Given the description of an element on the screen output the (x, y) to click on. 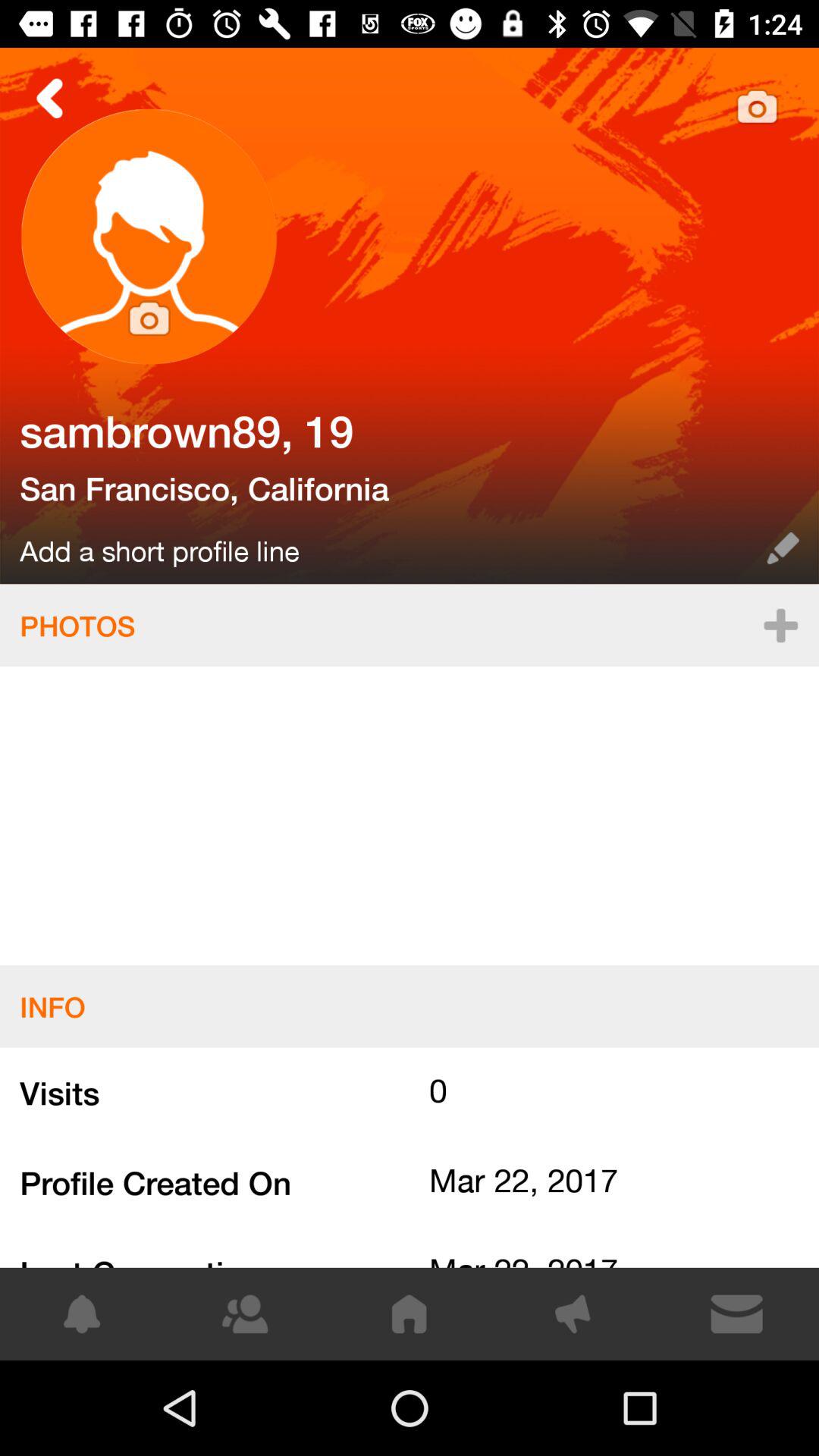
edit the profile name (783, 548)
